Given the description of an element on the screen output the (x, y) to click on. 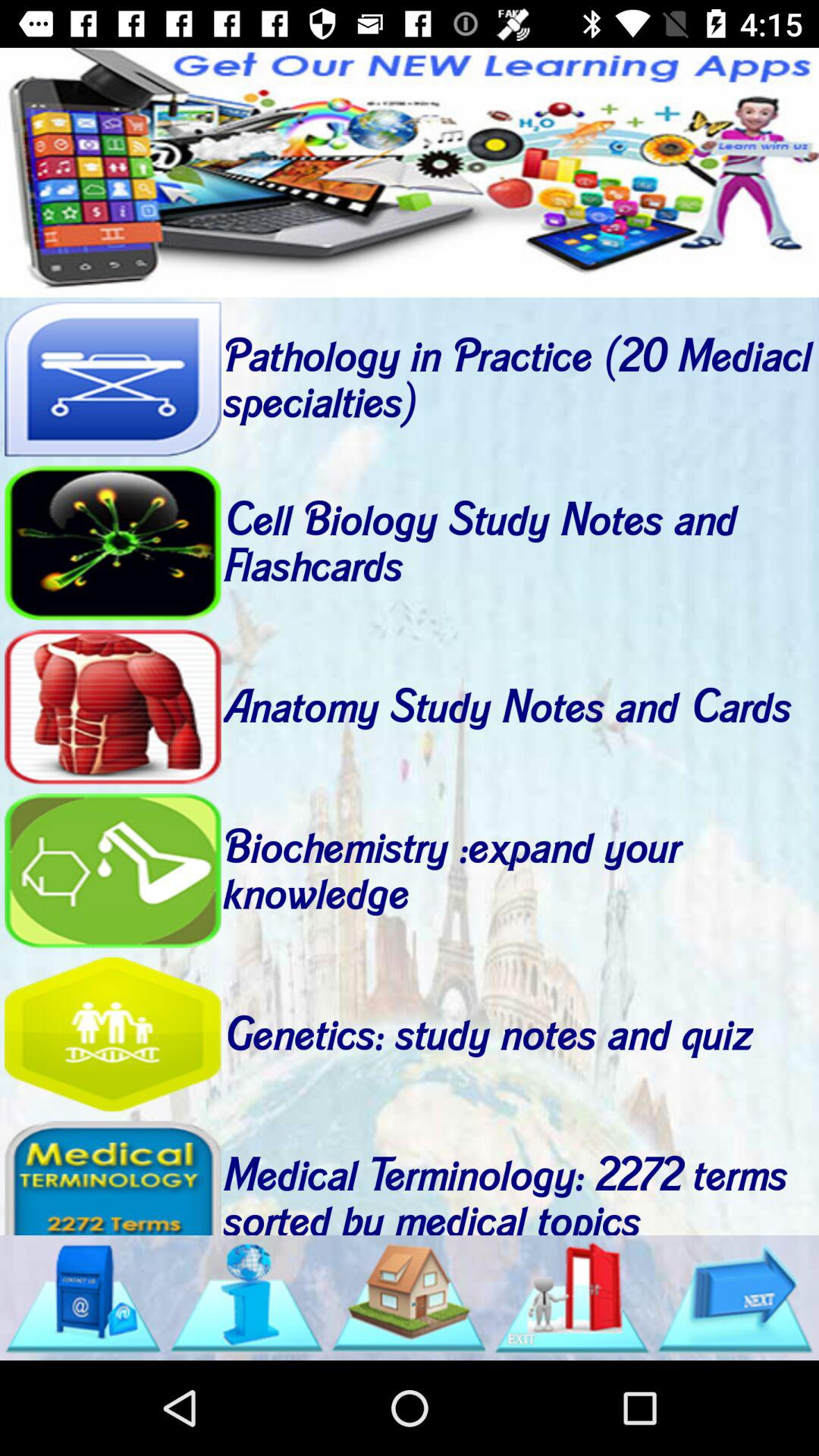
go to medical terminology (112, 1176)
